Given the description of an element on the screen output the (x, y) to click on. 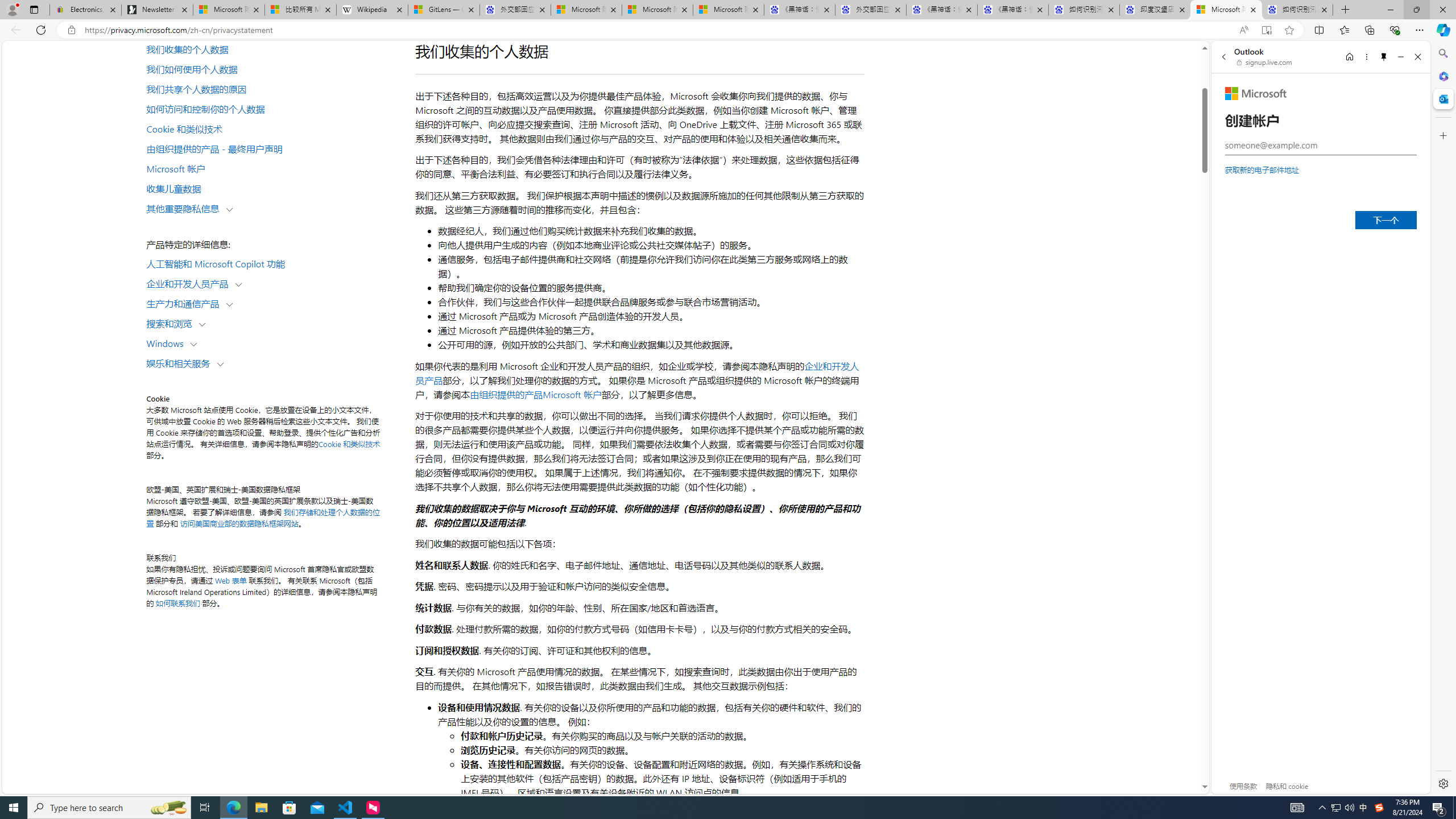
Windows (167, 342)
